Given the description of an element on the screen output the (x, y) to click on. 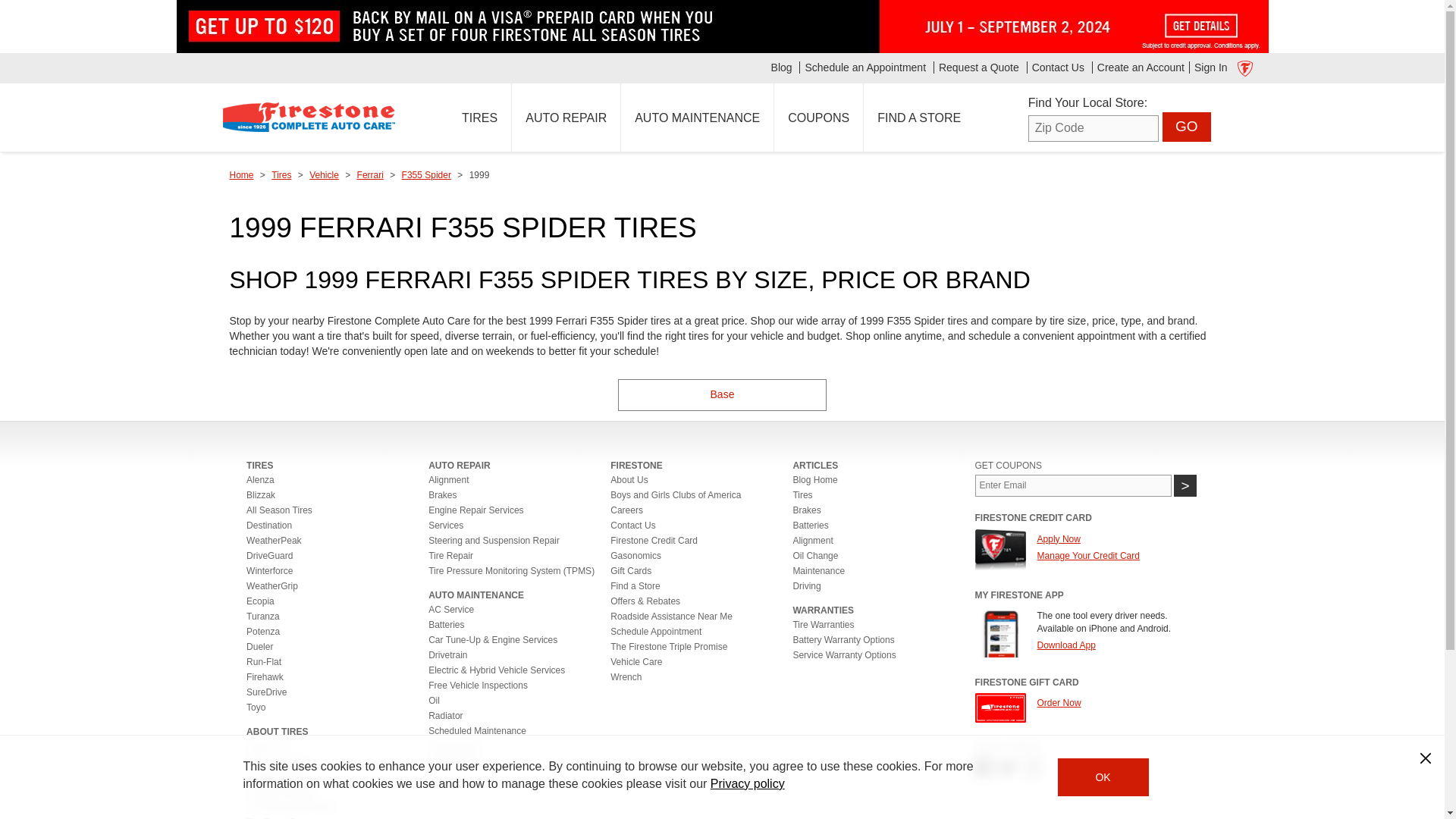
Create an Account (1140, 67)
Sign In (1210, 67)
Enter Email (1073, 485)
Twitter (1007, 767)
Request a Quote (978, 67)
Zip Code (1092, 128)
TIRES (479, 117)
Contact Us (1057, 67)
Privacy policy (747, 783)
Facebook (983, 767)
Schedule an Appointment (864, 67)
Blog (781, 67)
Instagram (1032, 767)
close button (1425, 758)
agree button (1102, 777)
